Given the description of an element on the screen output the (x, y) to click on. 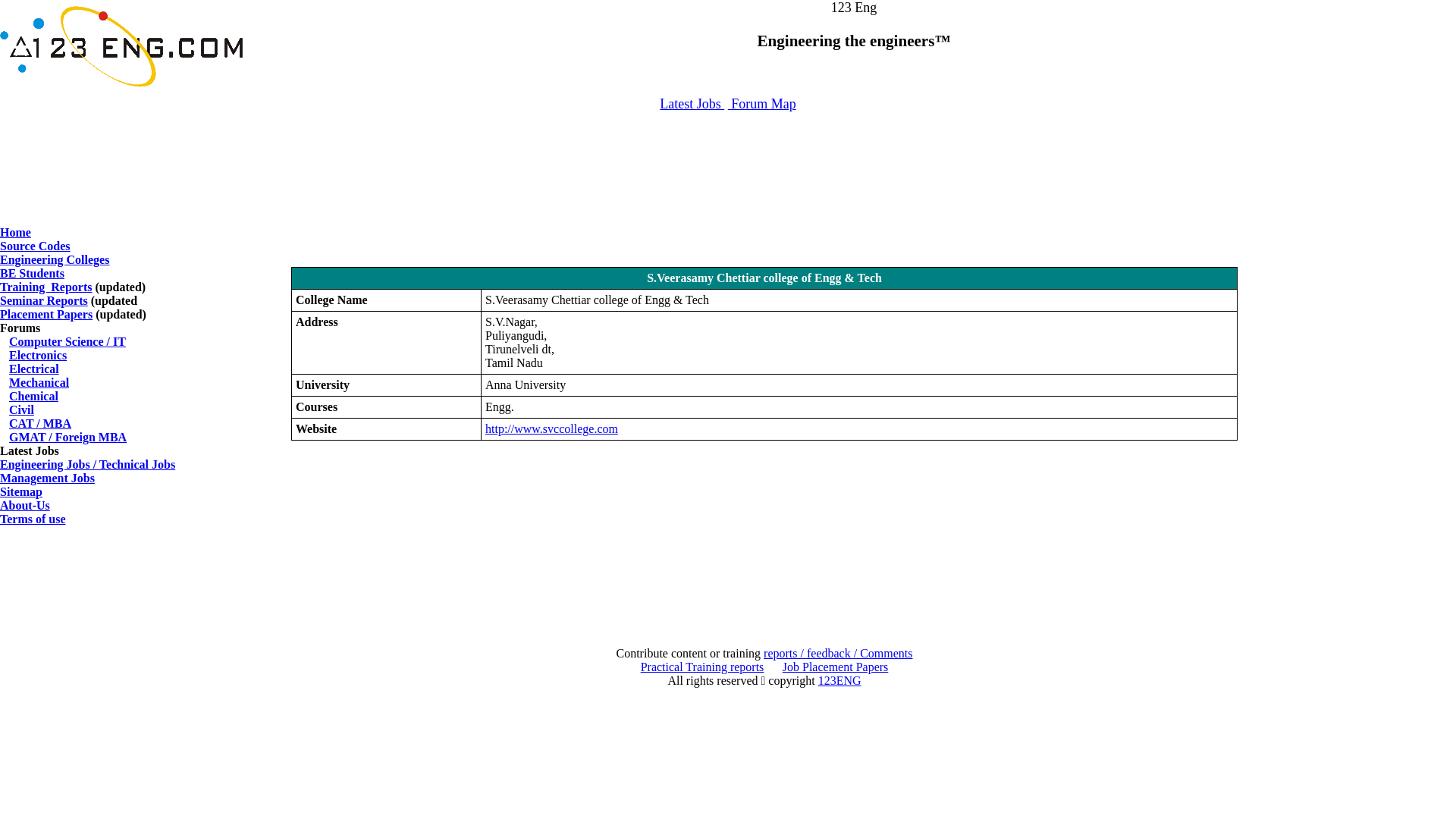
Mechanical Element type: text (39, 382)
Training  Reports Element type: text (45, 286)
Advertisement Element type: hover (764, 535)
Engineering Jobs / Technical Jobs Element type: text (87, 464)
Terms of use Element type: text (32, 518)
Management Jobs Element type: text (47, 477)
Advertisement Element type: hover (727, 189)
Seminar Reports Element type: text (43, 300)
http://www.svccollege.com Element type: text (551, 428)
Electrical Element type: text (34, 368)
Job Placement Papers Element type: text (835, 666)
Electronics Element type: text (37, 354)
CAT / MBA Element type: text (40, 423)
Advertisement Element type: hover (727, 160)
Sitemap Element type: text (21, 491)
Engineering Colleges Element type: text (54, 259)
reports / feedback / Comments Element type: text (837, 652)
Placement Papers Element type: text (46, 313)
About-Us Element type: text (25, 504)
Practical Training reports Element type: text (702, 666)
Latest Jobs Element type: text (691, 103)
Home Element type: text (15, 231)
Civil Element type: text (21, 409)
GMAT / Foreign MBA Element type: text (67, 436)
Computer Science / IT Element type: text (67, 341)
Source Codes Element type: text (35, 245)
123ENG Element type: text (839, 680)
Chemical Element type: text (33, 395)
BE Students Element type: text (32, 272)
Forum Map Element type: text (762, 103)
